Given the description of an element on the screen output the (x, y) to click on. 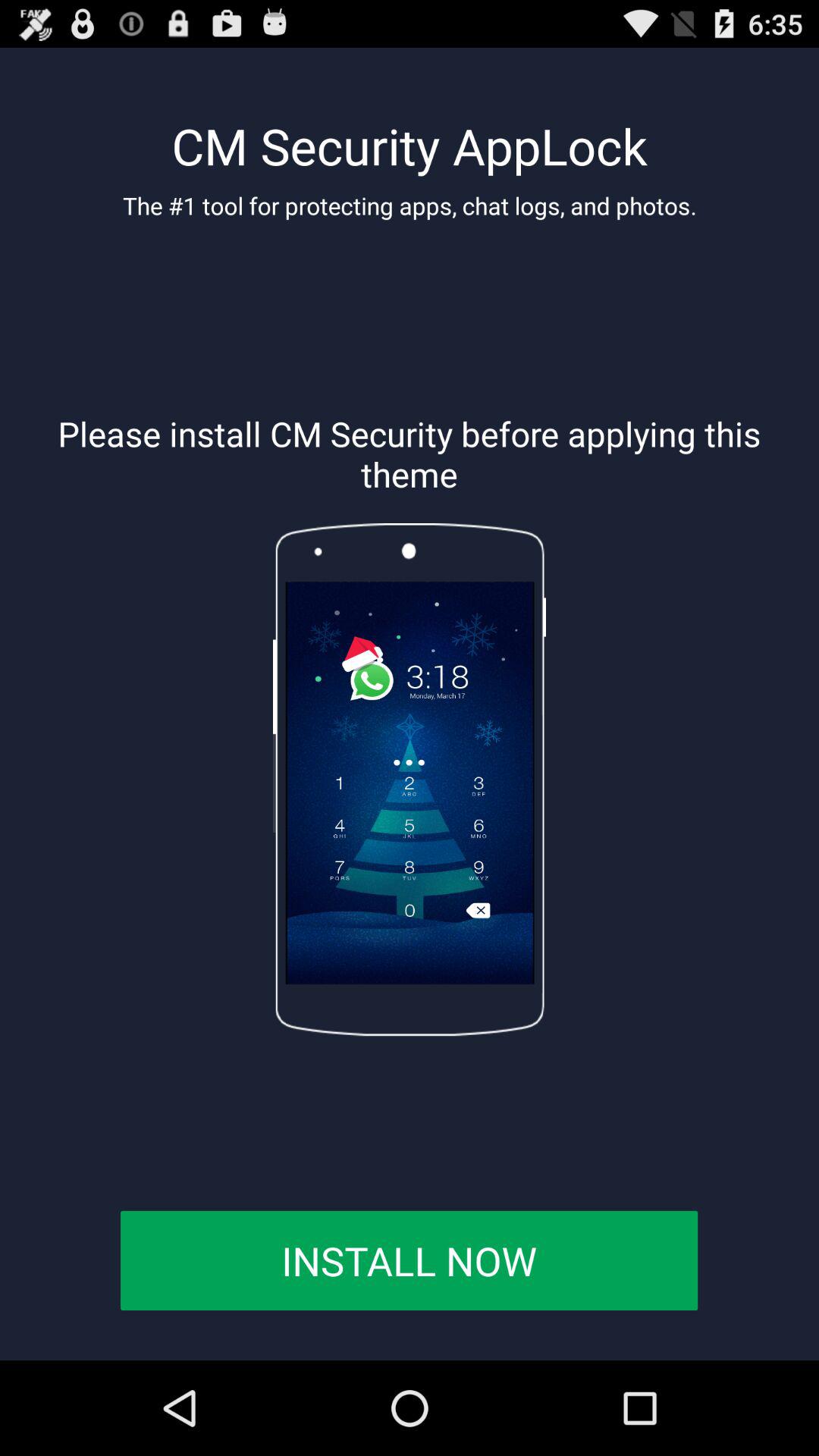
jump to the install now (408, 1260)
